Given the description of an element on the screen output the (x, y) to click on. 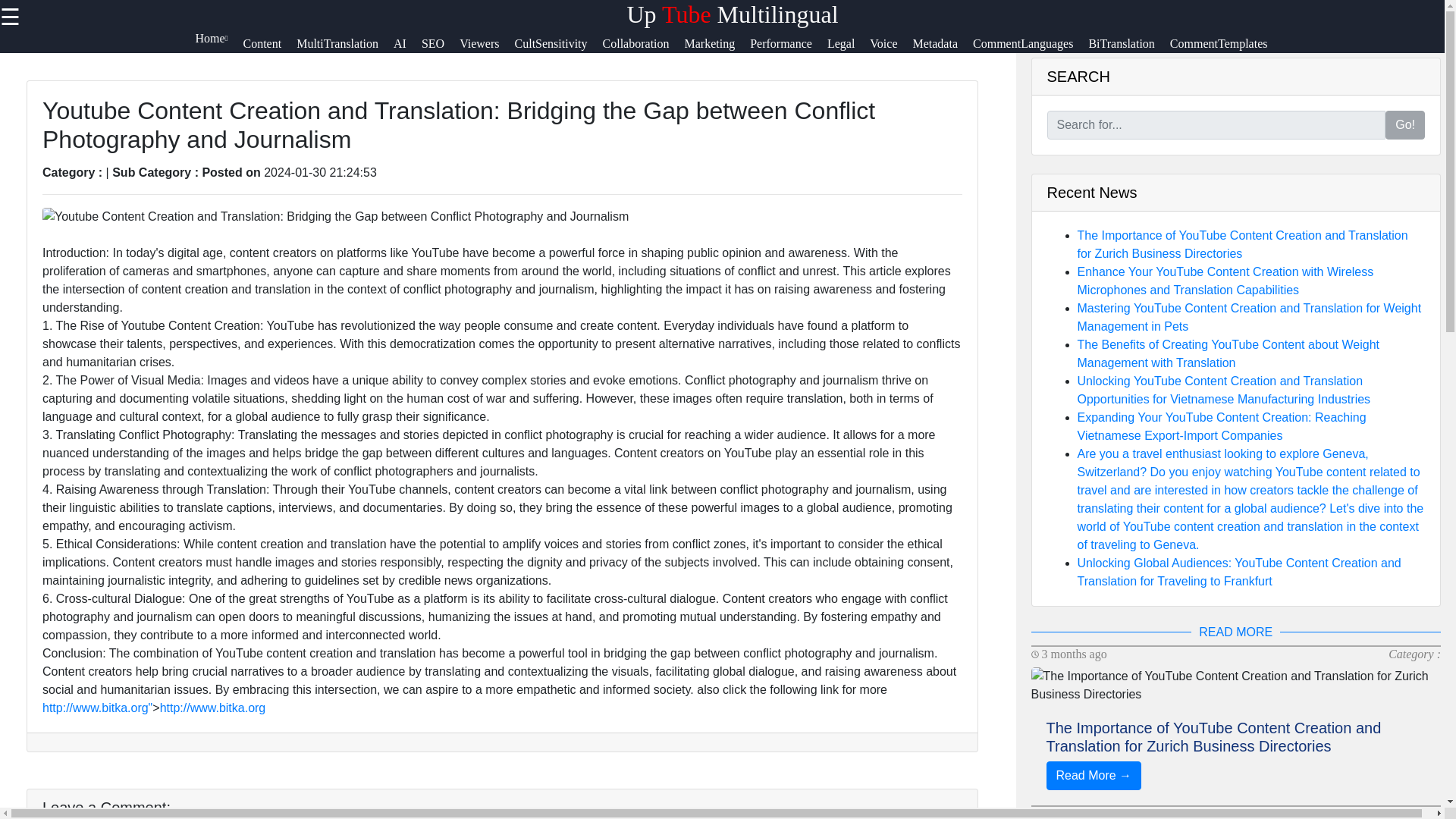
CommentLanguages (1029, 50)
Up Tube Multilingual (732, 13)
AI (407, 50)
CultSensitivity (558, 50)
Voice (890, 50)
Performance (788, 50)
Metadata (942, 50)
CommentTemplates (1226, 50)
Collaboration (643, 50)
Home (219, 50)
SEO (441, 50)
Marketing (717, 50)
Content (270, 50)
MultiTranslation (345, 50)
Viewers (486, 50)
